Given the description of an element on the screen output the (x, y) to click on. 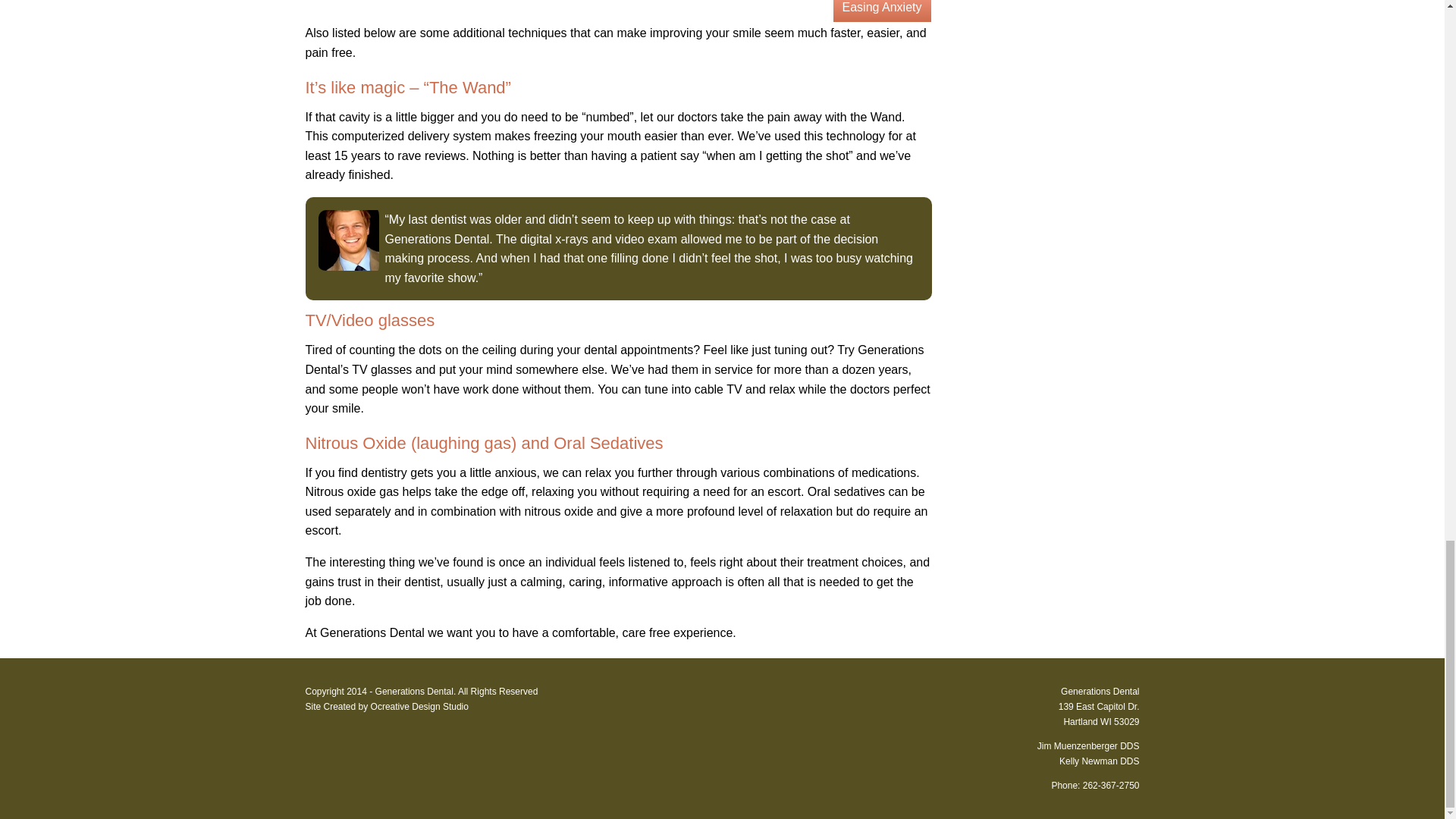
Easing Anxiety (881, 11)
